Given the description of an element on the screen output the (x, y) to click on. 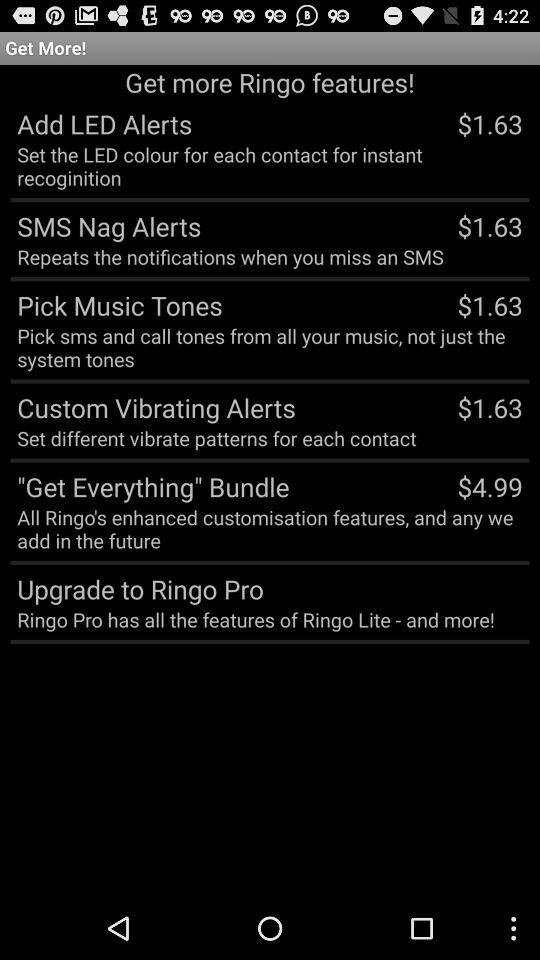
open icon above all ringo s icon (149, 486)
